Given the description of an element on the screen output the (x, y) to click on. 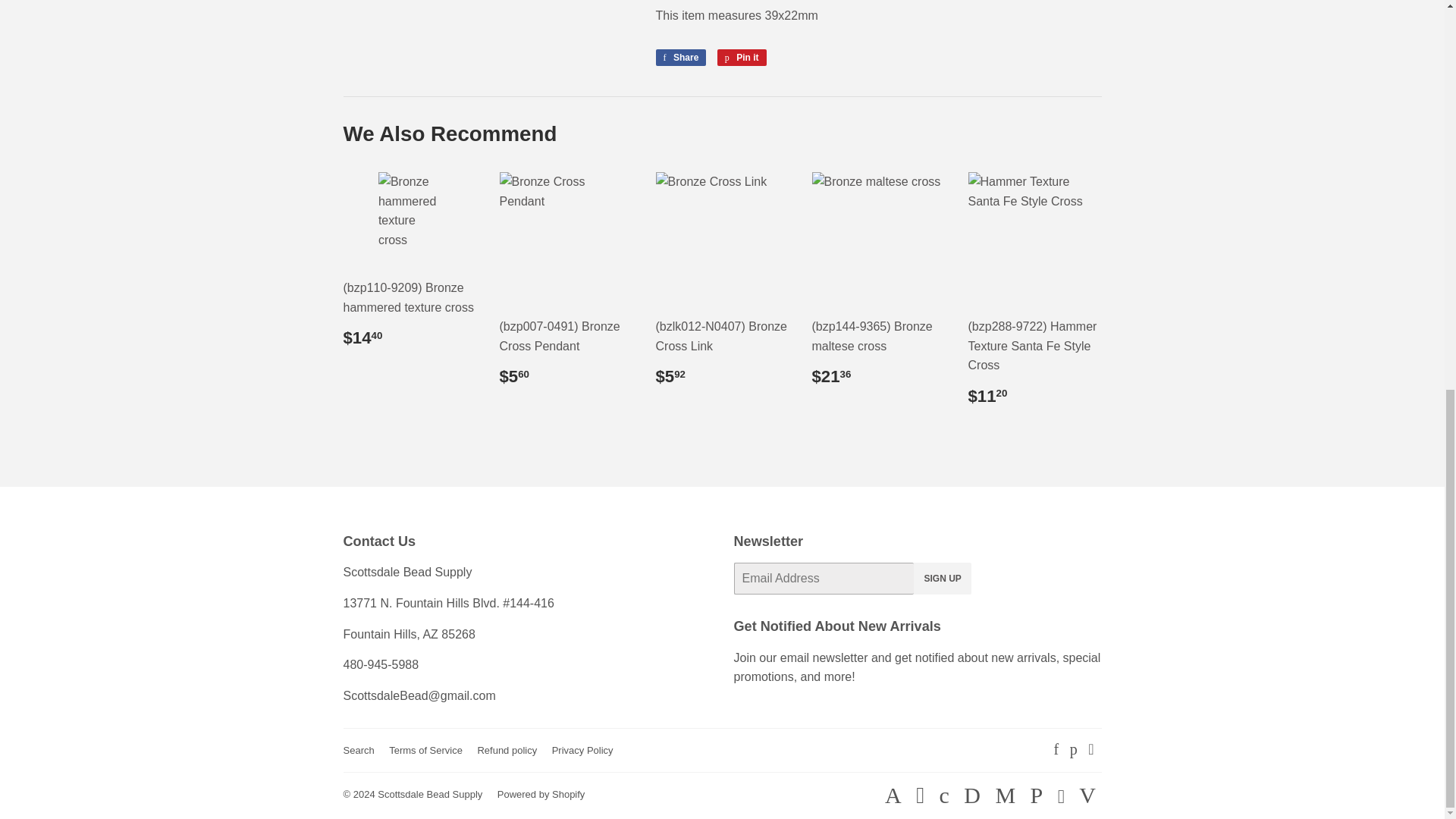
Pin on Pinterest (742, 57)
Share on Facebook (680, 57)
